Given the description of an element on the screen output the (x, y) to click on. 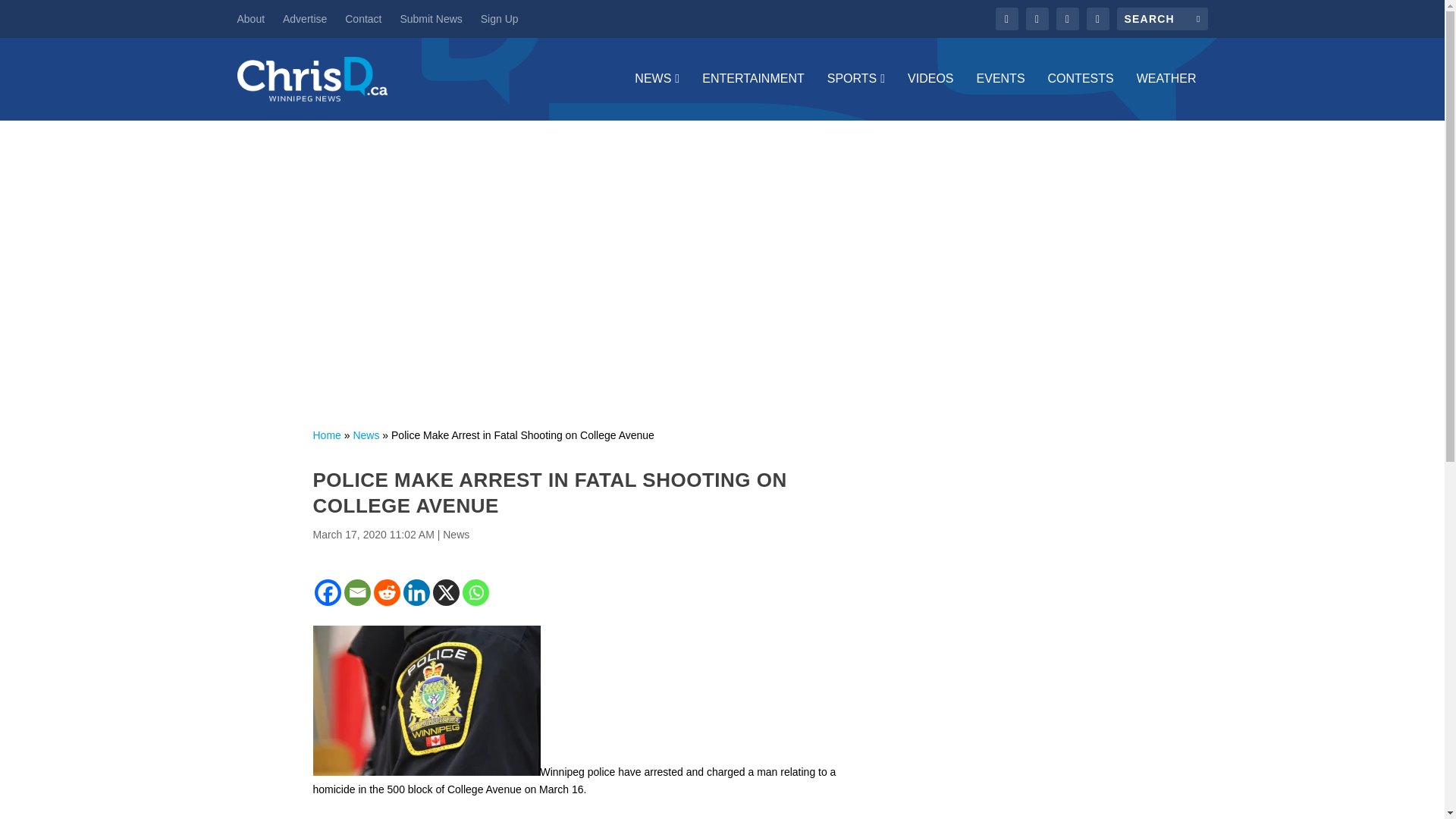
CONTESTS (1080, 96)
WEATHER (1166, 96)
SPORTS (856, 96)
X (445, 592)
Contact (363, 18)
Home (326, 435)
Submit News (429, 18)
Search for: (1161, 18)
Email (357, 592)
VIDEOS (930, 96)
